Given the description of an element on the screen output the (x, y) to click on. 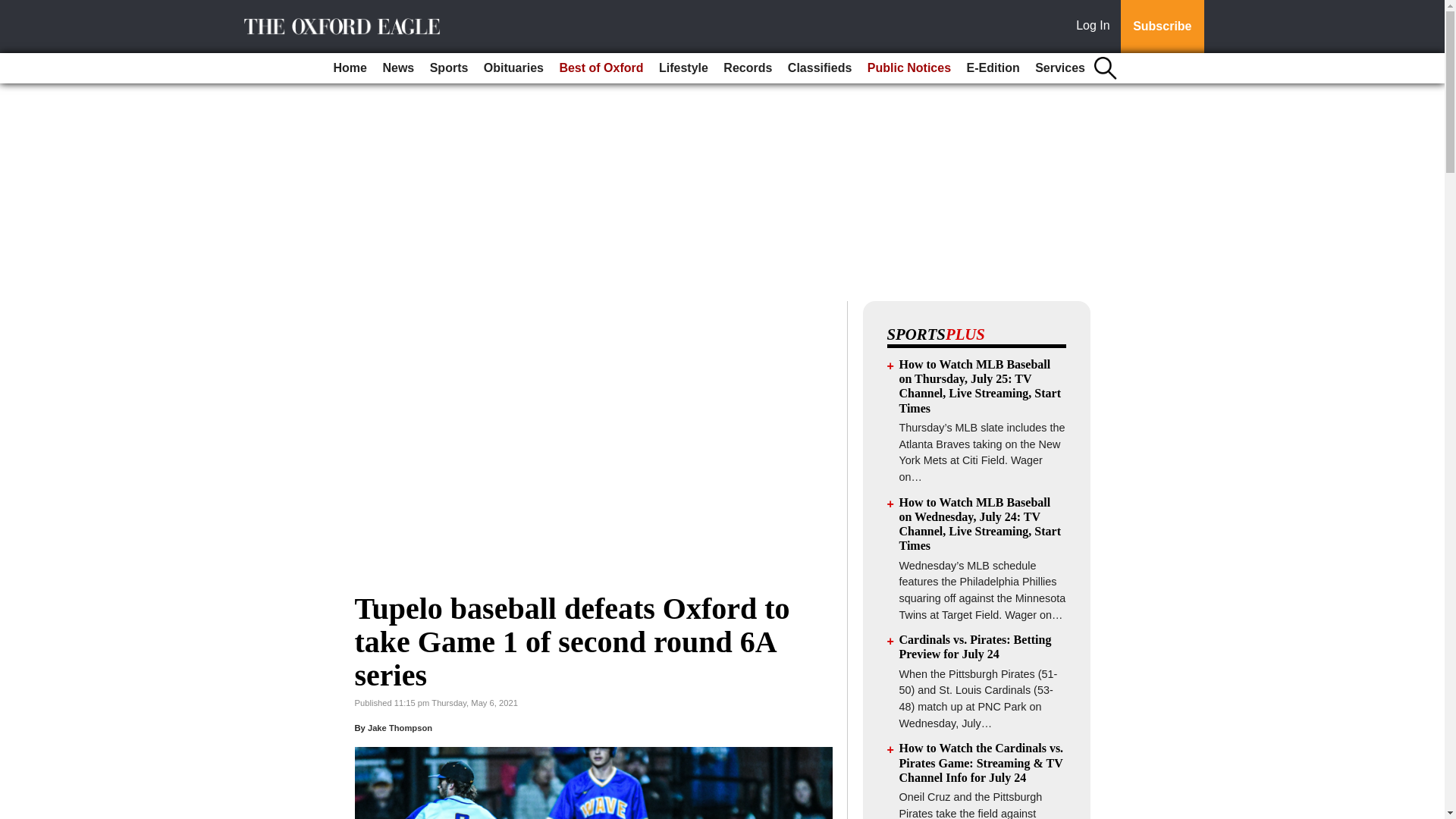
Cardinals vs. Pirates: Betting Preview for July 24 (975, 646)
Sports (448, 68)
Lifestyle (683, 68)
Best of Oxford (601, 68)
Log In (1095, 26)
Records (747, 68)
Go (13, 9)
E-Edition (992, 68)
Classifieds (819, 68)
News (397, 68)
Obituaries (513, 68)
Jake Thompson (400, 727)
Home (349, 68)
